Given the description of an element on the screen output the (x, y) to click on. 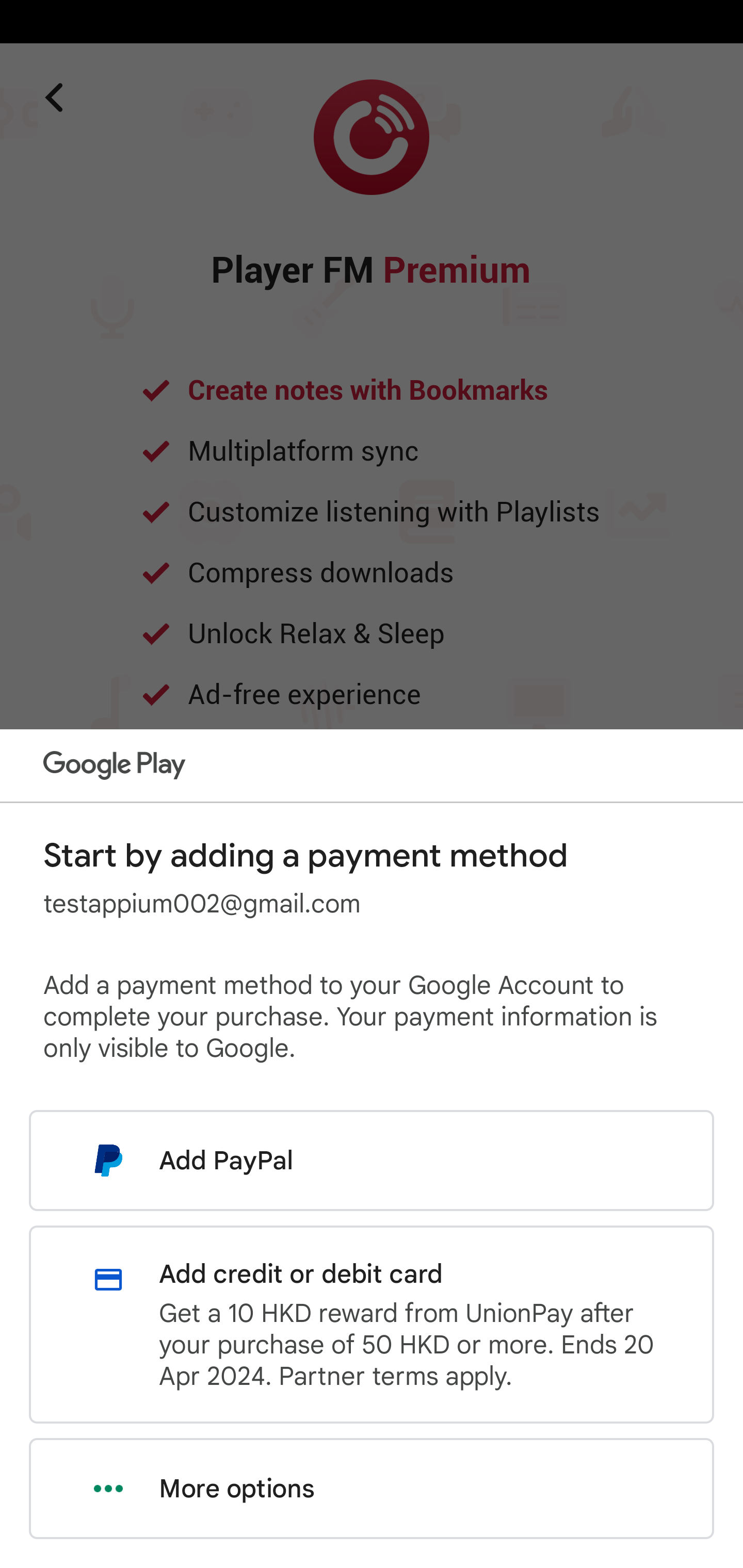
Add PayPal (371, 1160)
More options (371, 1488)
